Given the description of an element on the screen output the (x, y) to click on. 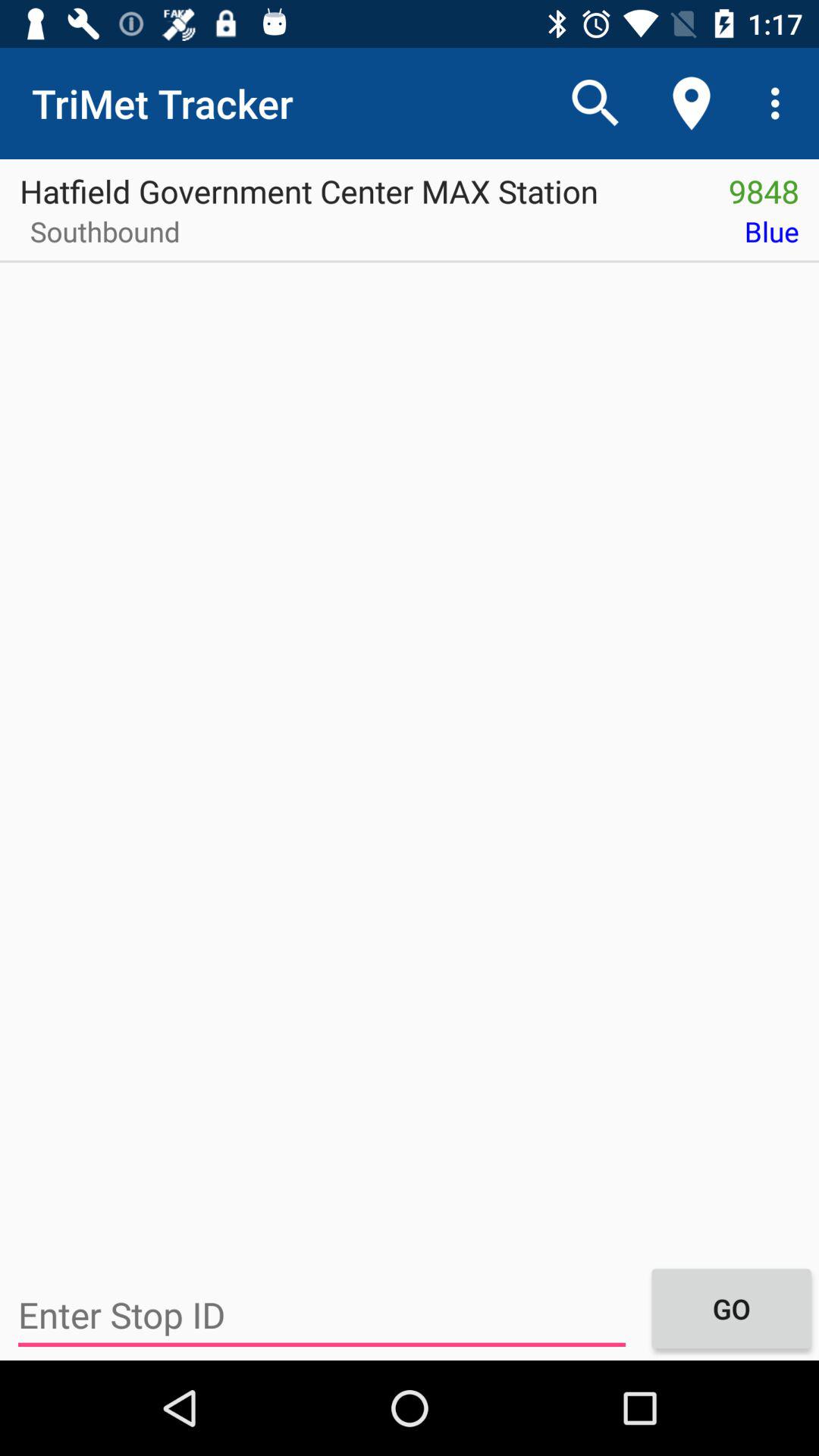
select item above the go icon (509, 236)
